Given the description of an element on the screen output the (x, y) to click on. 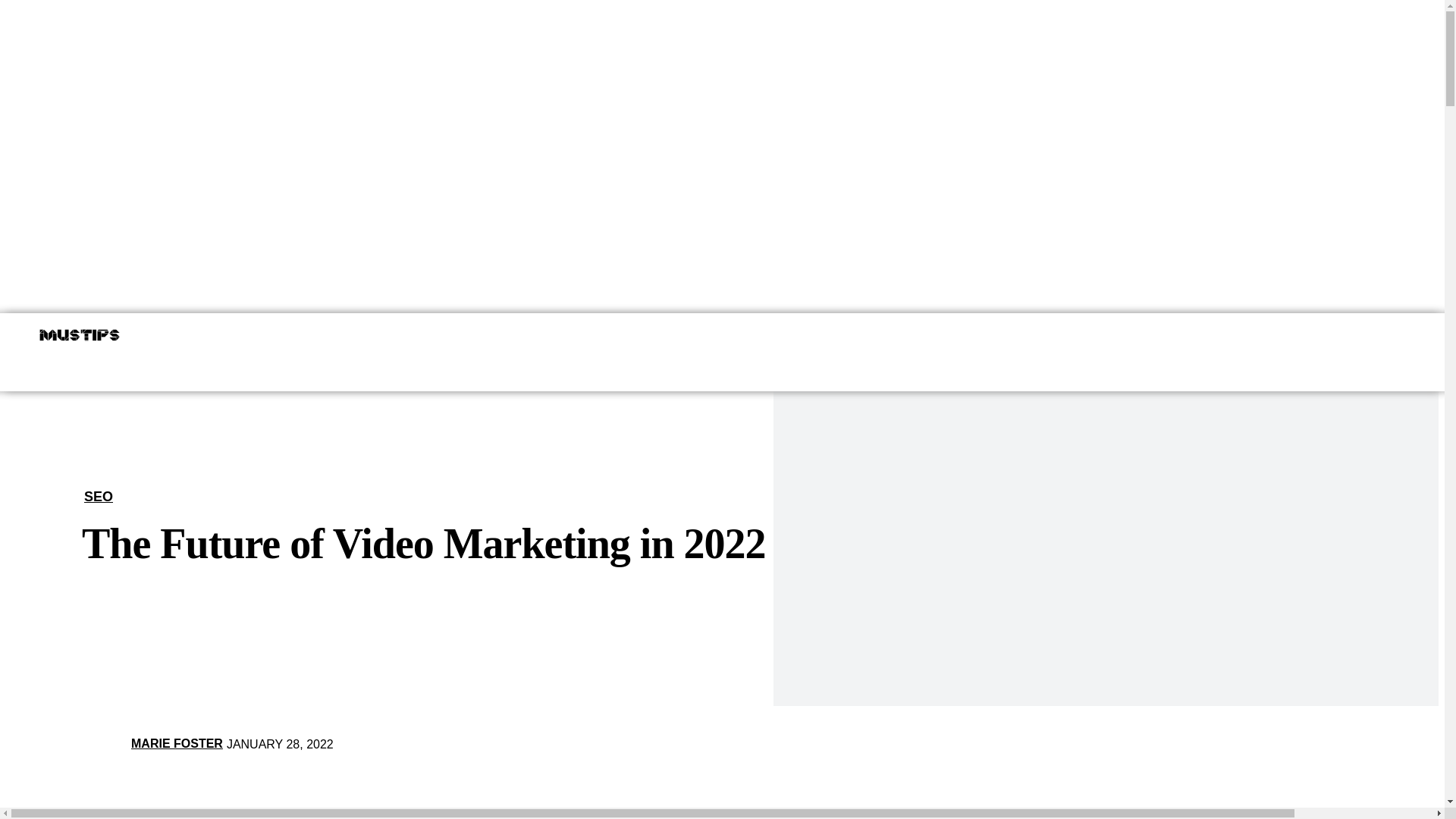
Marie Foster (105, 743)
MARIE FOSTER (176, 743)
mustips (78, 333)
SEO (98, 496)
